Given the description of an element on the screen output the (x, y) to click on. 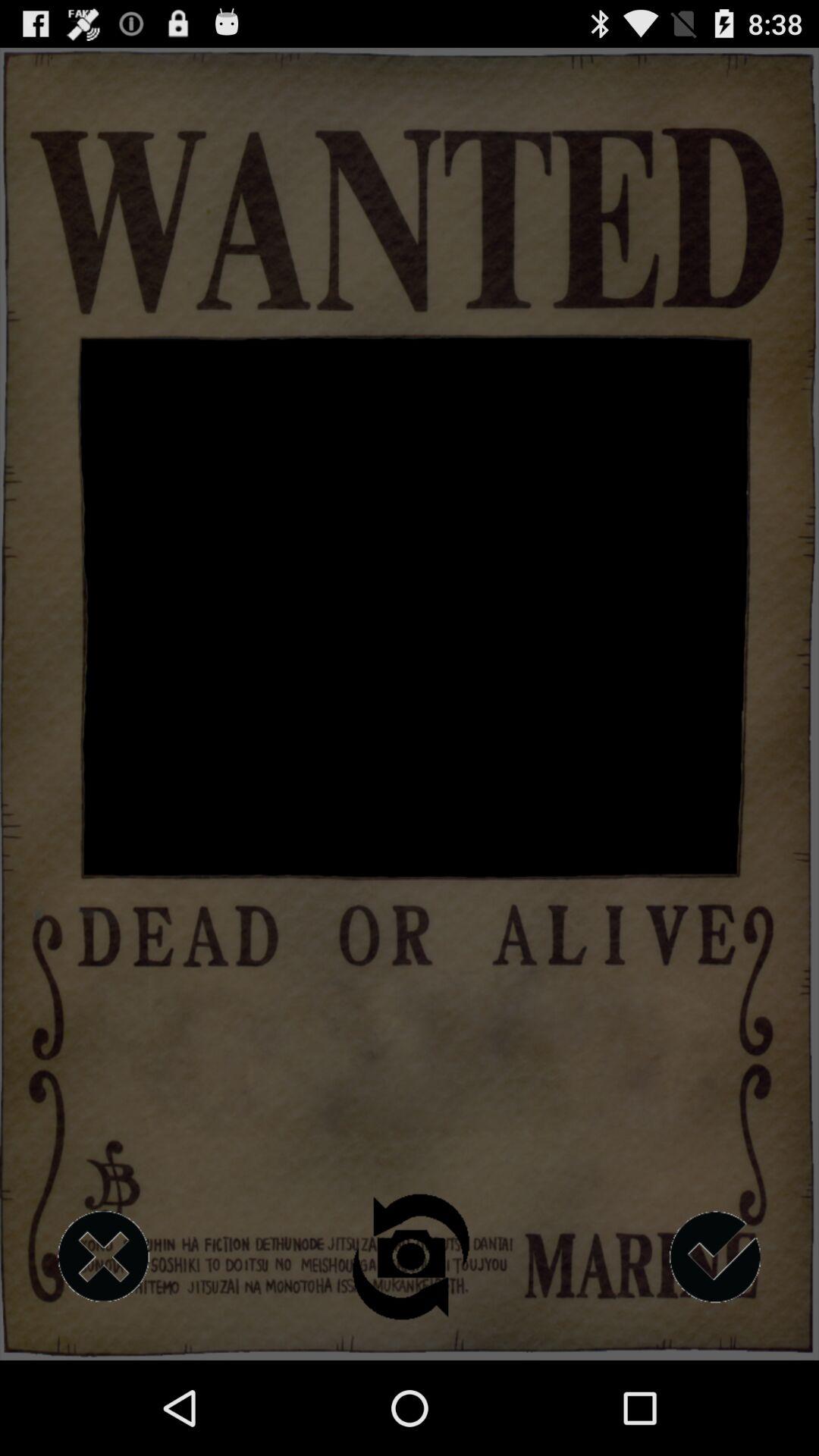
tap icon at the bottom (409, 1256)
